Given the description of an element on the screen output the (x, y) to click on. 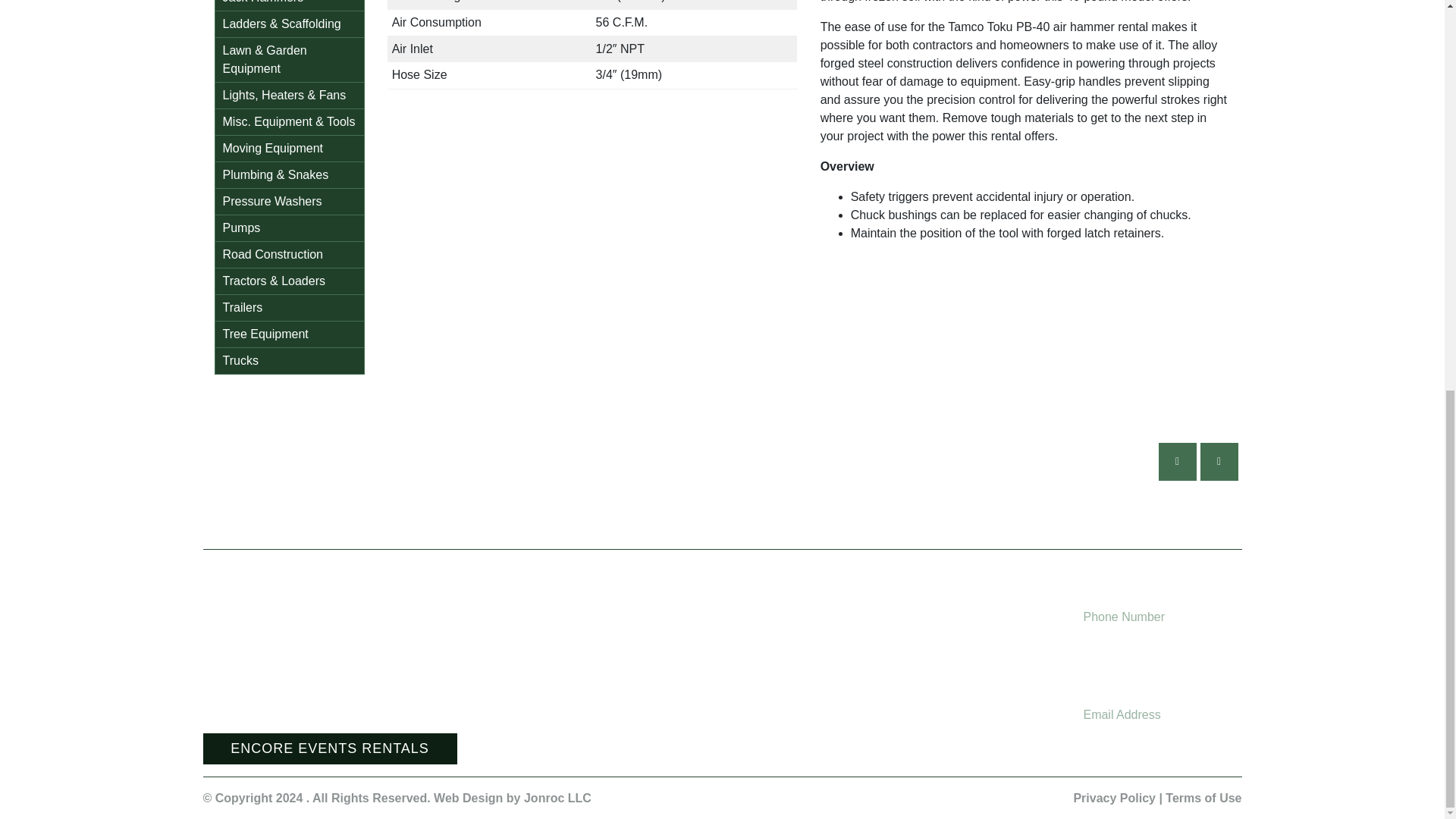
Jack Hammers (289, 5)
